Given the description of an element on the screen output the (x, y) to click on. 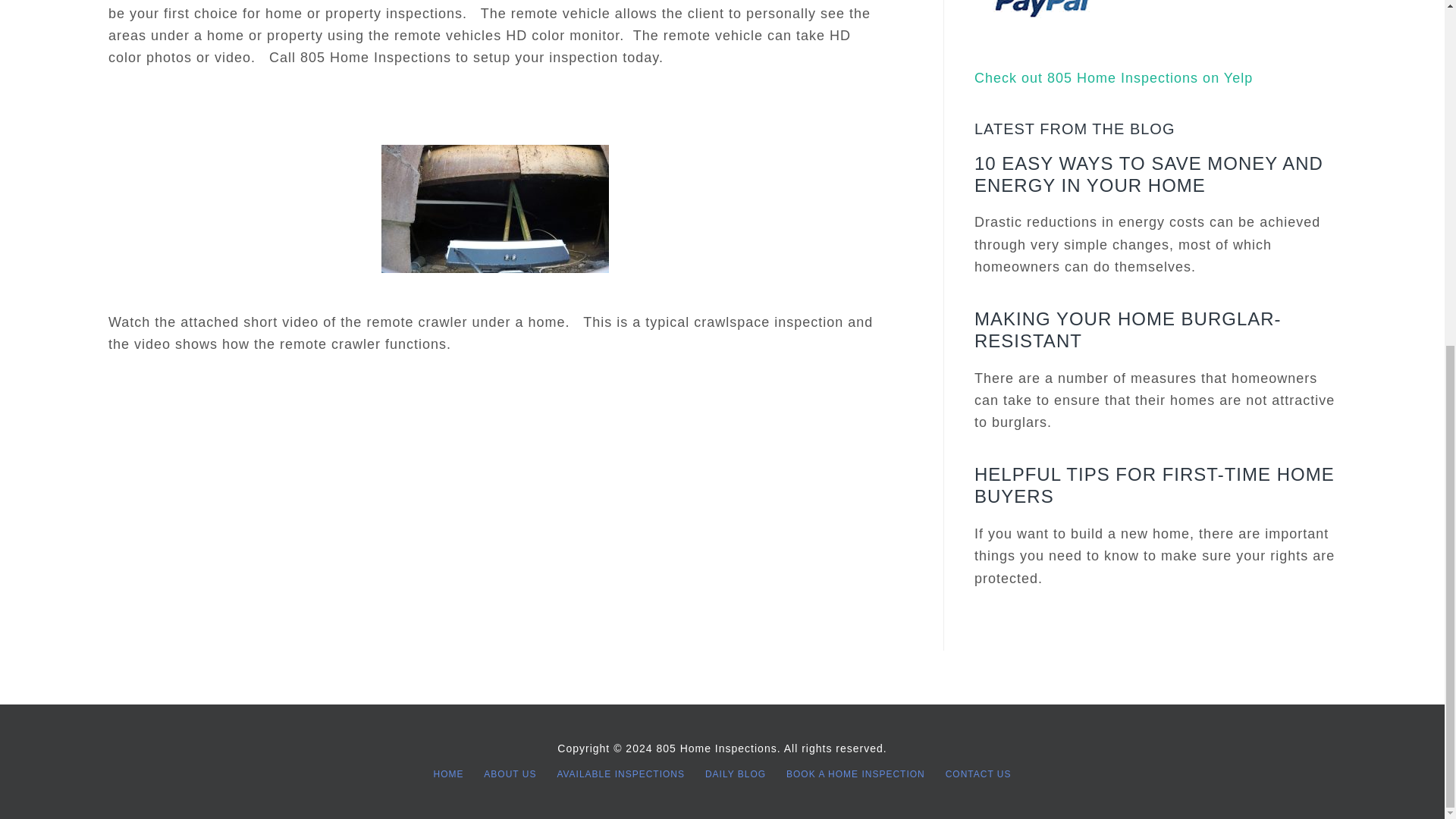
HOME (447, 774)
AVAILABLE INSPECTIONS (620, 774)
Check out 805 Home Inspections on Yelp (1113, 77)
10 EASY WAYS TO SAVE MONEY AND ENERGY IN YOUR HOME (1148, 174)
MAKING YOUR HOME BURGLAR-RESISTANT (1127, 329)
805 Home Inspections (716, 748)
HELPFUL TIPS FOR FIRST-TIME HOME BUYERS (1154, 485)
ABOUT US (509, 774)
